Given the description of an element on the screen output the (x, y) to click on. 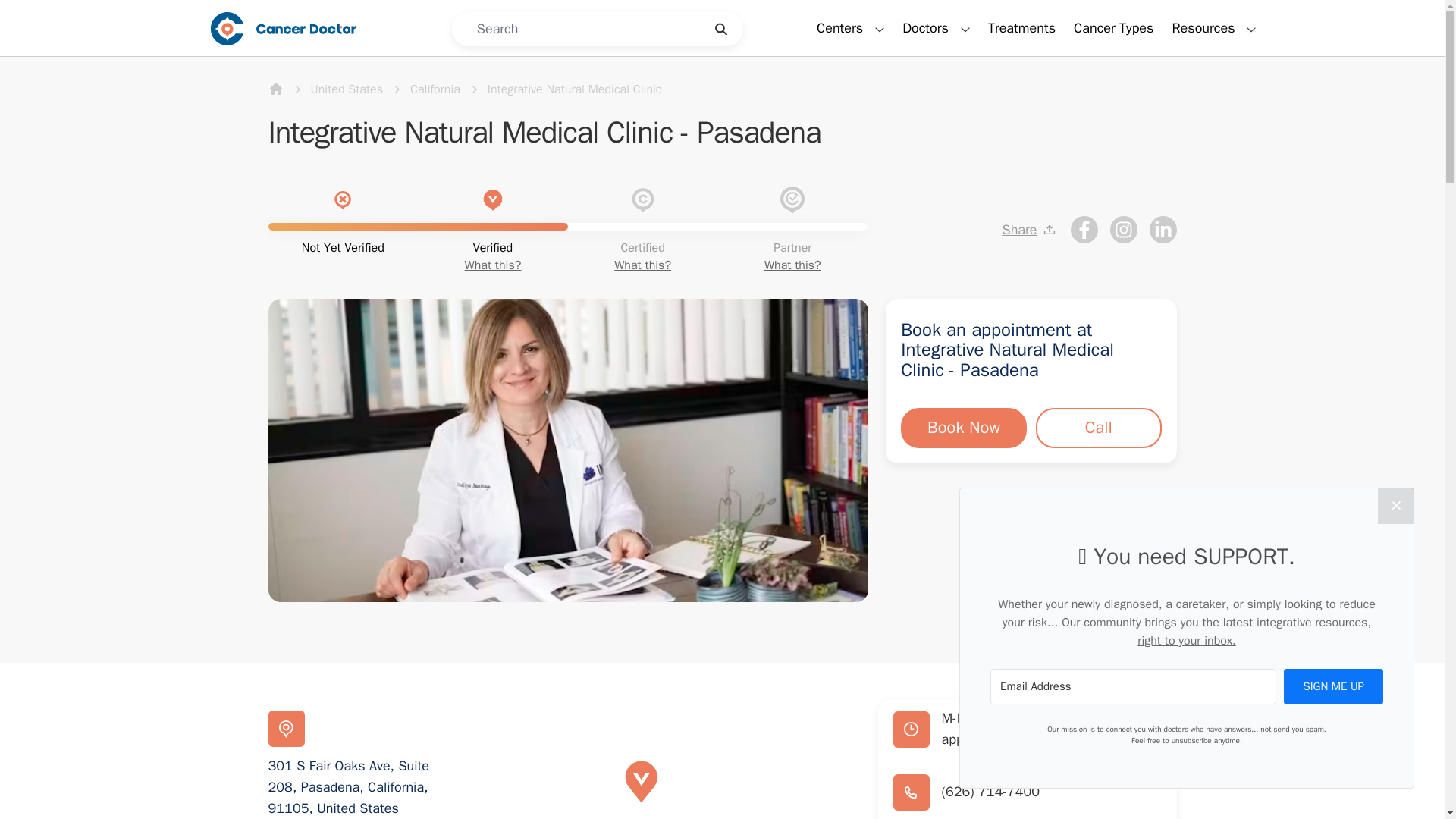
Cancer Types (1113, 27)
Integrative Natural Medical Clinic (574, 89)
Home (275, 88)
Call (1098, 427)
Book Now (963, 427)
Resources (1213, 28)
United States (347, 89)
Centers (849, 28)
California (435, 89)
Doctors (935, 28)
Treatments (1021, 27)
